Given the description of an element on the screen output the (x, y) to click on. 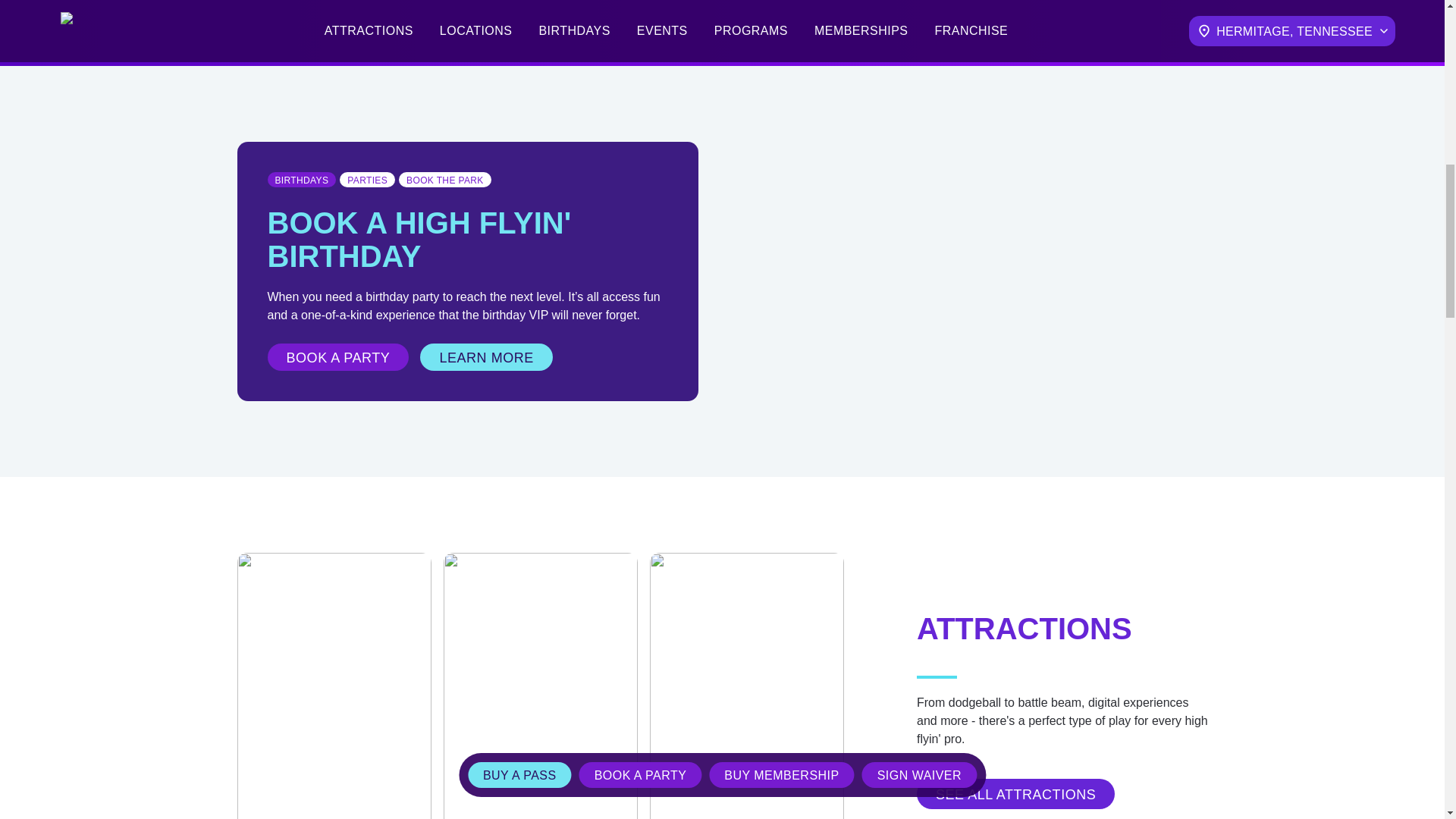
BOOK A PARTY (337, 357)
BIRTHDAYS (296, 179)
BOOK THE PARK (439, 179)
PARTIES (362, 179)
LEARN MORE (485, 357)
SEE ALL ATTRACTIONS (1014, 793)
